Given the description of an element on the screen output the (x, y) to click on. 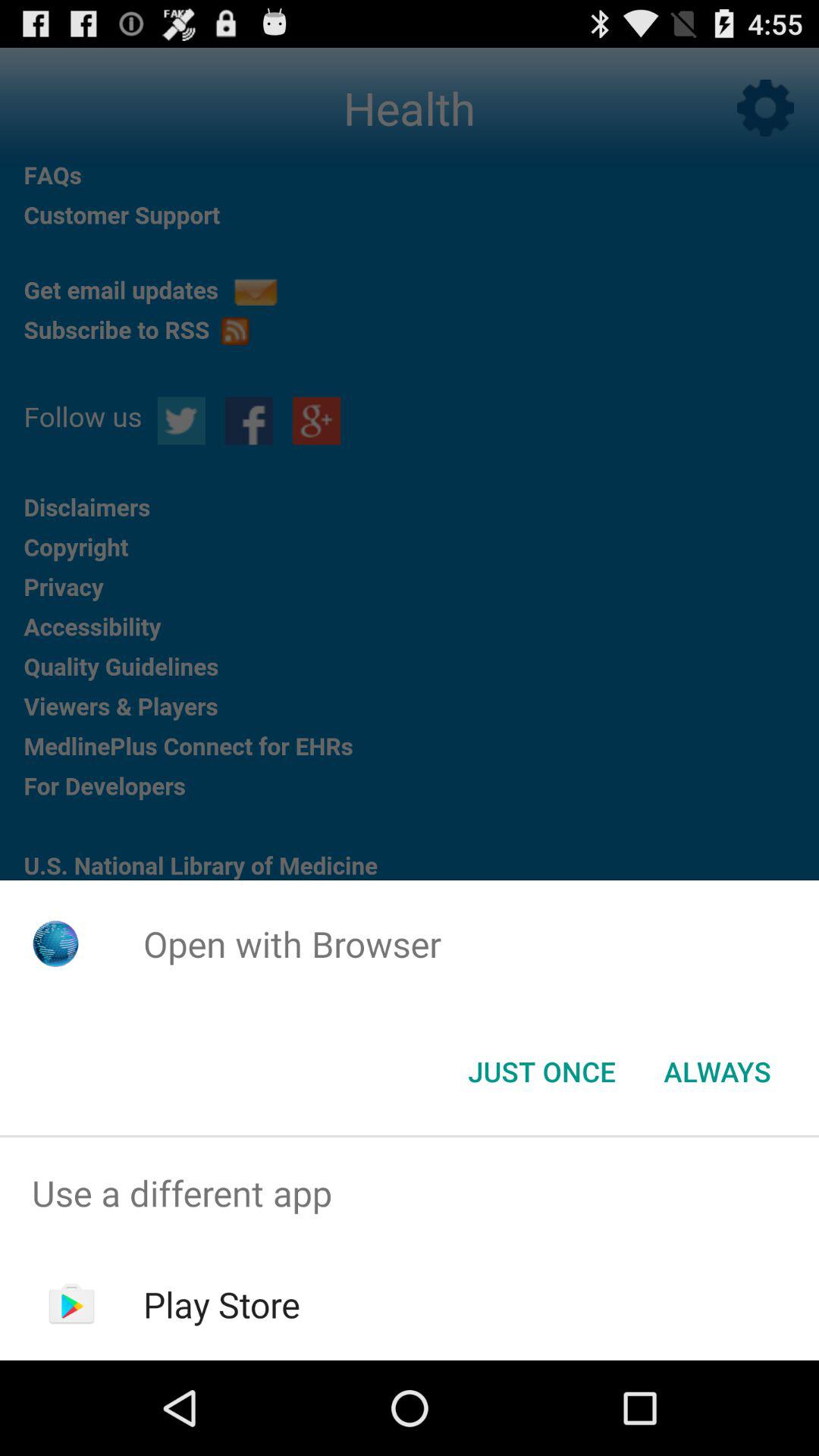
swipe to use a different icon (409, 1192)
